Given the description of an element on the screen output the (x, y) to click on. 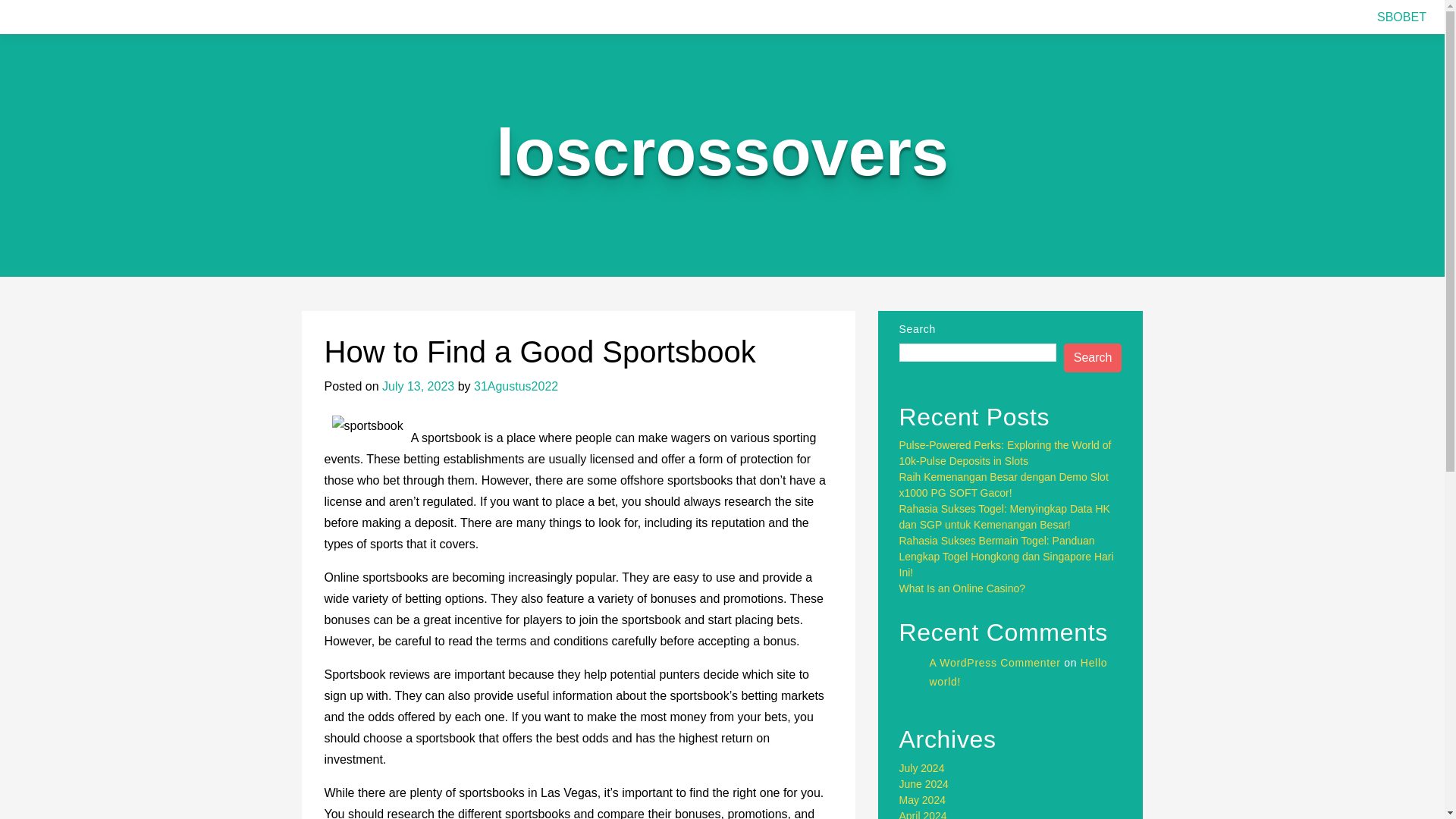
July 2024 (921, 752)
SBOBET (1401, 16)
SBOBET (1401, 16)
Is the Lottery a Tax on Low-Income Families? (1005, 556)
How to Play at a Casino Online (972, 540)
April 2024 (923, 799)
July 13, 2023 (417, 386)
Hello world! (1019, 640)
June 2024 (924, 767)
August 2024 (929, 736)
31Agustus2022 (515, 386)
March 2024 (927, 814)
